Given the description of an element on the screen output the (x, y) to click on. 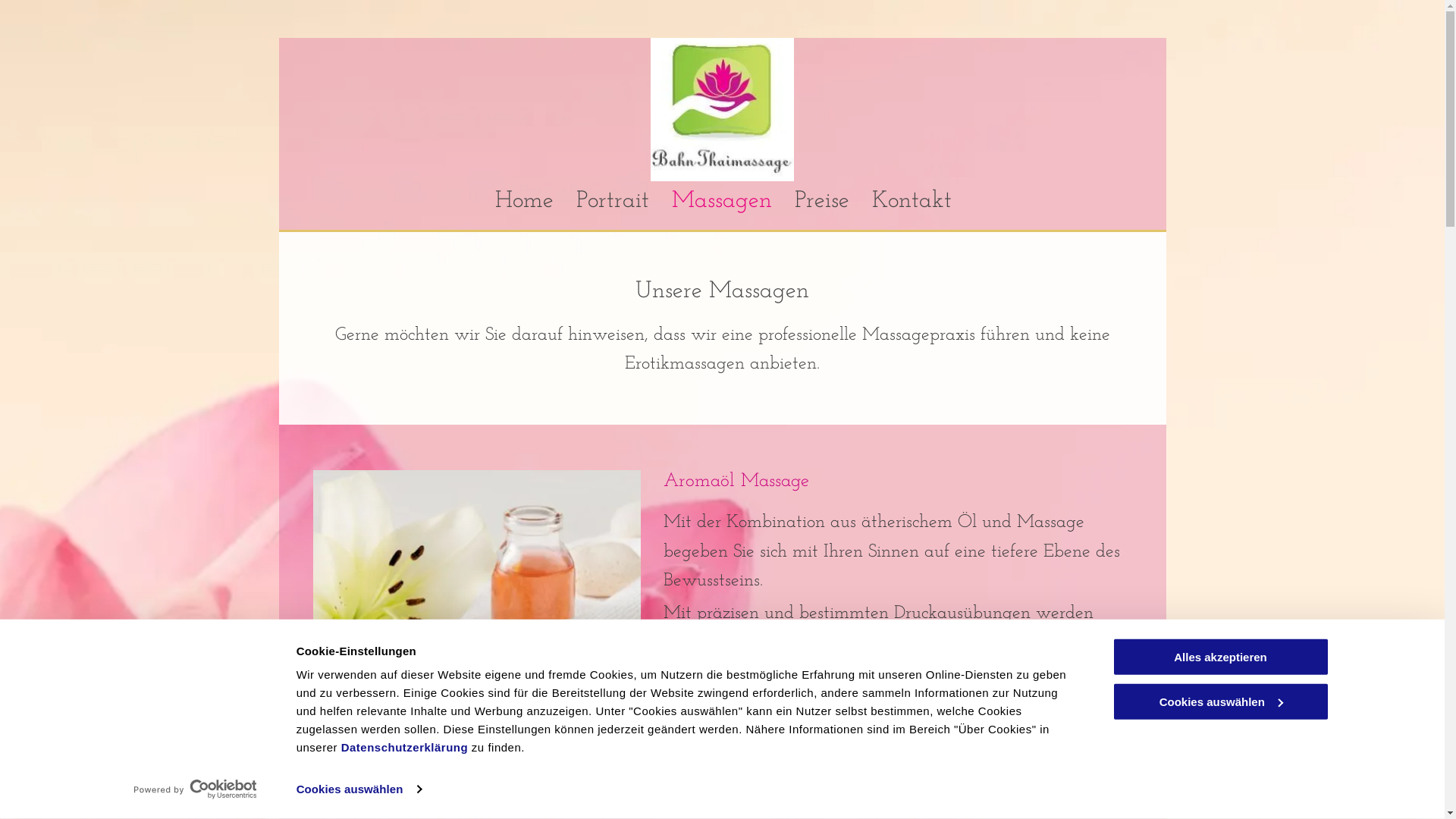
Massagen Element type: text (710, 201)
Home Element type: text (512, 201)
Alles akzeptieren Element type: text (1219, 656)
Preise Element type: text (810, 201)
Portrait Element type: text (601, 201)
Kontakt Element type: text (900, 201)
